Given the description of an element on the screen output the (x, y) to click on. 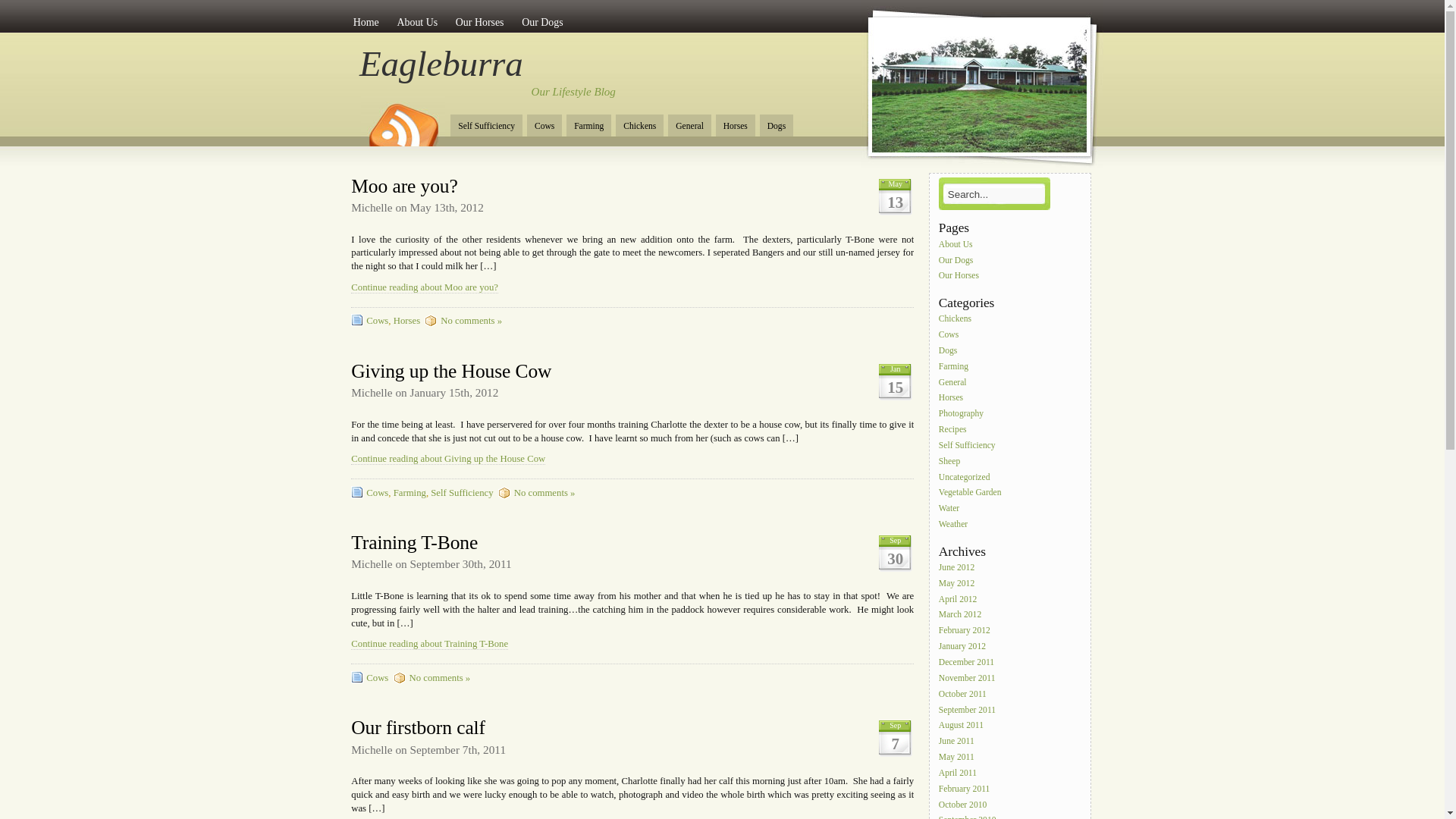
Cows Element type: text (544, 125)
April 2012 Element type: text (958, 599)
General Element type: text (689, 125)
April 2011 Element type: text (958, 773)
About Us Element type: text (416, 21)
Continue reading about Training T-Bone Element type: text (429, 643)
Cows Element type: text (377, 320)
February 2012 Element type: text (964, 630)
Cows Element type: text (949, 335)
Uncategorized Element type: text (964, 477)
Farming Element type: text (588, 125)
Our Dogs Element type: text (542, 21)
February 2011 Element type: text (964, 789)
Photography Element type: text (961, 413)
Giving up the House Cow Element type: text (451, 371)
Weather Element type: text (953, 524)
October 2011 Element type: text (963, 694)
Our firstborn calf Element type: text (418, 727)
Moo are you? Element type: text (404, 185)
Our Lifestyle Blog Element type: text (572, 91)
Dogs Element type: text (776, 125)
September 2011 Element type: text (967, 710)
Our Horses Element type: text (478, 21)
November 2011 Element type: text (967, 678)
August 2011 Element type: text (961, 725)
Horses Element type: text (951, 397)
Our Dogs Element type: text (956, 259)
General Element type: text (953, 382)
October 2010 Element type: text (963, 805)
Self Sufficiency Element type: text (967, 445)
Dogs Element type: text (948, 350)
March 2012 Element type: text (960, 614)
May 2012 Element type: text (957, 583)
Continue reading about Giving up the House Cow Element type: text (448, 458)
Cows Element type: text (377, 492)
May 2011 Element type: text (956, 757)
Sheep Element type: text (950, 461)
June 2011 Element type: text (956, 741)
Continue reading about Moo are you? Element type: text (424, 287)
Home Element type: text (365, 21)
Cows Element type: text (377, 677)
Eagleburra Element type: text (441, 63)
Horses Element type: text (406, 320)
Farming Element type: text (954, 366)
Recipes Element type: text (953, 429)
Our Horses Element type: text (959, 275)
Chickens Element type: text (639, 125)
January 2012 Element type: text (962, 646)
December 2011 Element type: text (967, 662)
Training T-Bone Element type: text (414, 542)
Self Sufficiency Element type: text (486, 125)
Horses Element type: text (735, 125)
Self Sufficiency Element type: text (461, 492)
Subscribe to this site with RSS Element type: hover (402, 119)
Water Element type: text (949, 508)
Vegetable Garden Element type: text (970, 492)
About Us Element type: text (956, 244)
Farming Element type: text (409, 492)
June 2012 Element type: text (957, 567)
Chickens Element type: text (955, 319)
